Given the description of an element on the screen output the (x, y) to click on. 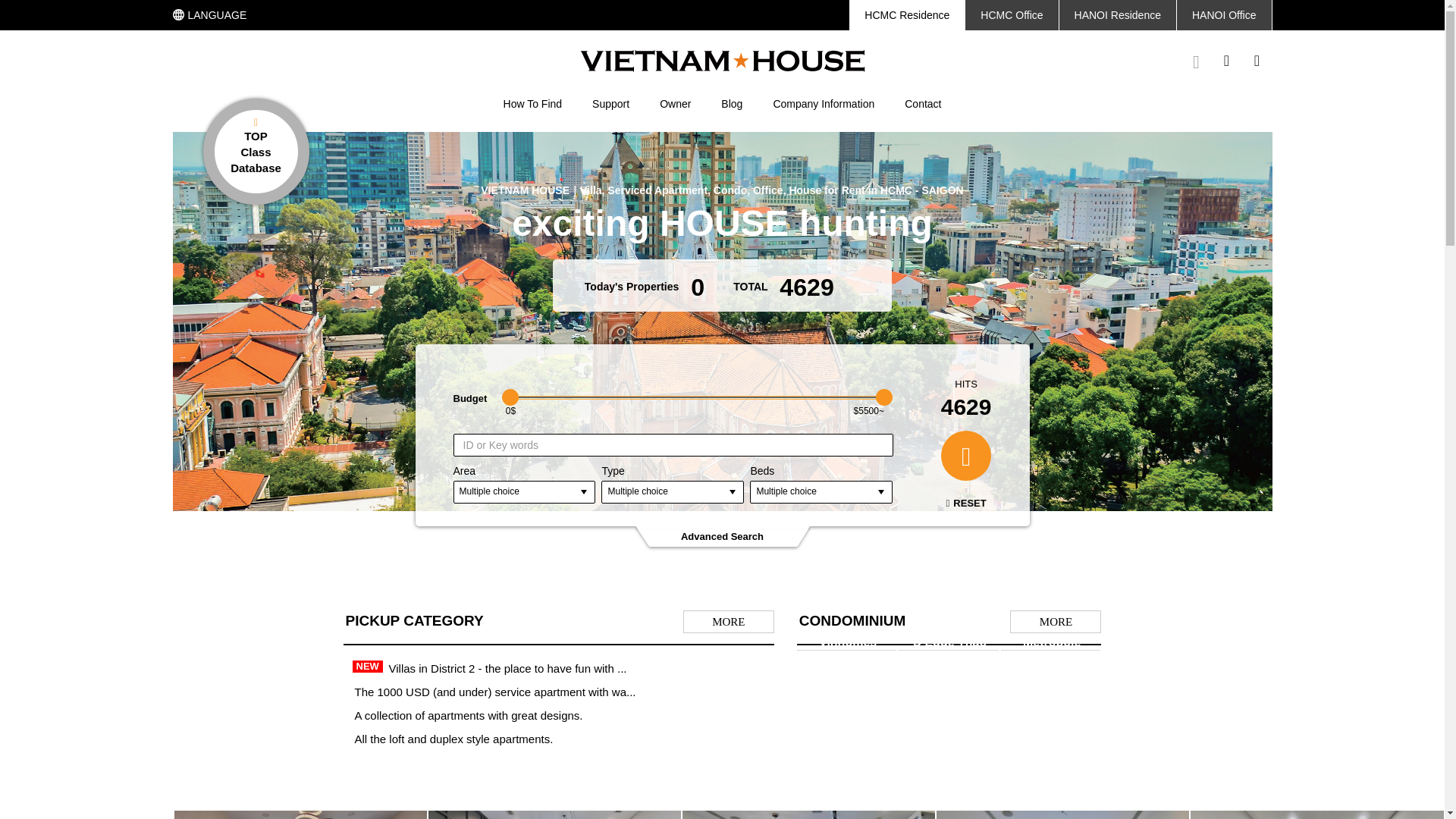
Multiple choice (523, 491)
Multiple choice (820, 491)
HANOI Residence (1117, 15)
How To Find (532, 103)
HANOI Office (1223, 15)
HCMC Office (1011, 15)
Multiple choice (672, 491)
HCMC Residence (905, 15)
LANGUAGE (210, 15)
